Given the description of an element on the screen output the (x, y) to click on. 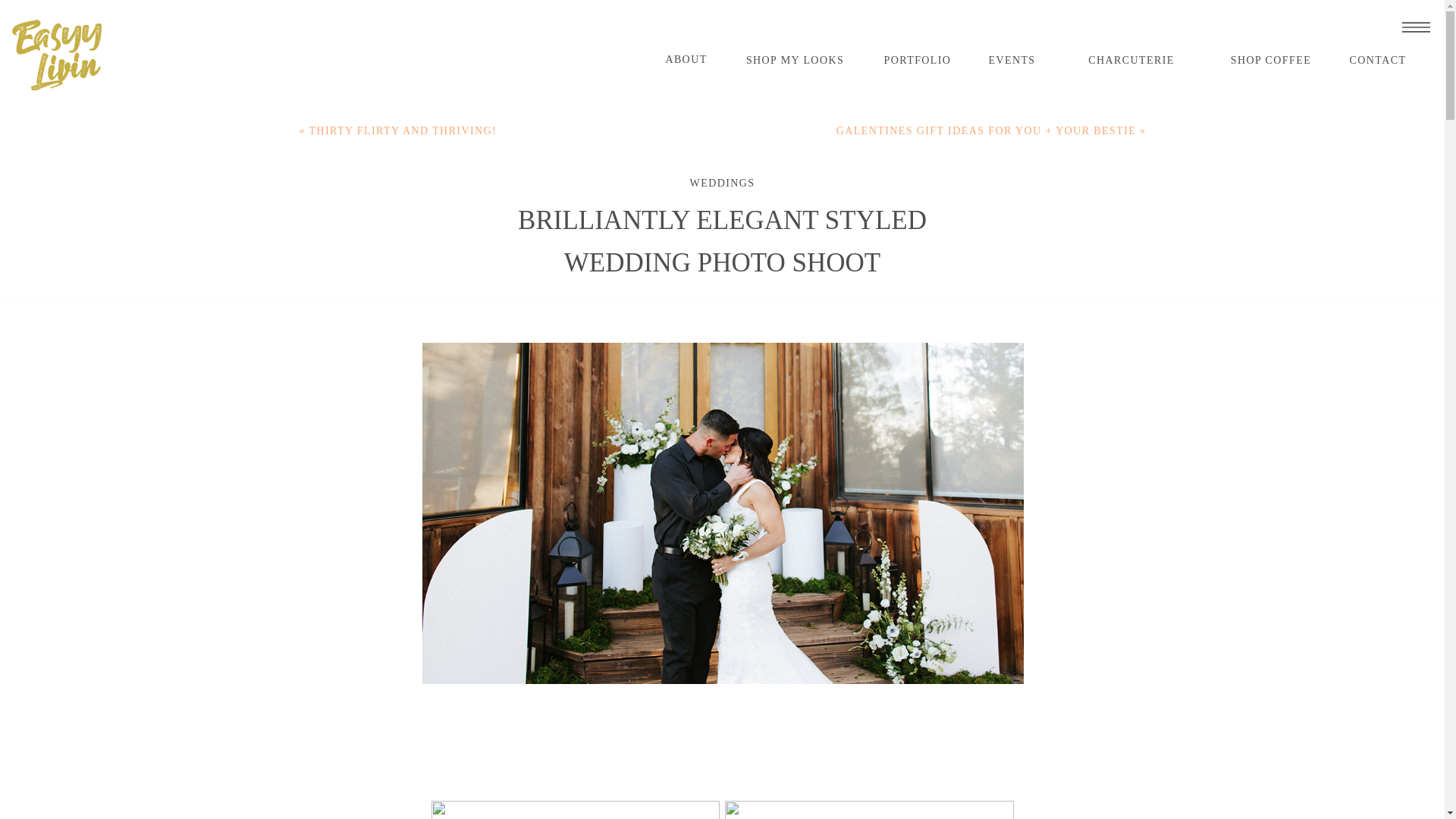
SHOP MY LOOKS (794, 60)
CONTACT (1377, 60)
SHOP COFFEE (1270, 60)
PORTFOLIO (917, 60)
THIRTY FLIRTY AND THRIVING! (402, 130)
WEDDINGS (722, 183)
ABOUT (686, 60)
CHARCUTERIE (1130, 60)
EVENTS (1011, 60)
